Given the description of an element on the screen output the (x, y) to click on. 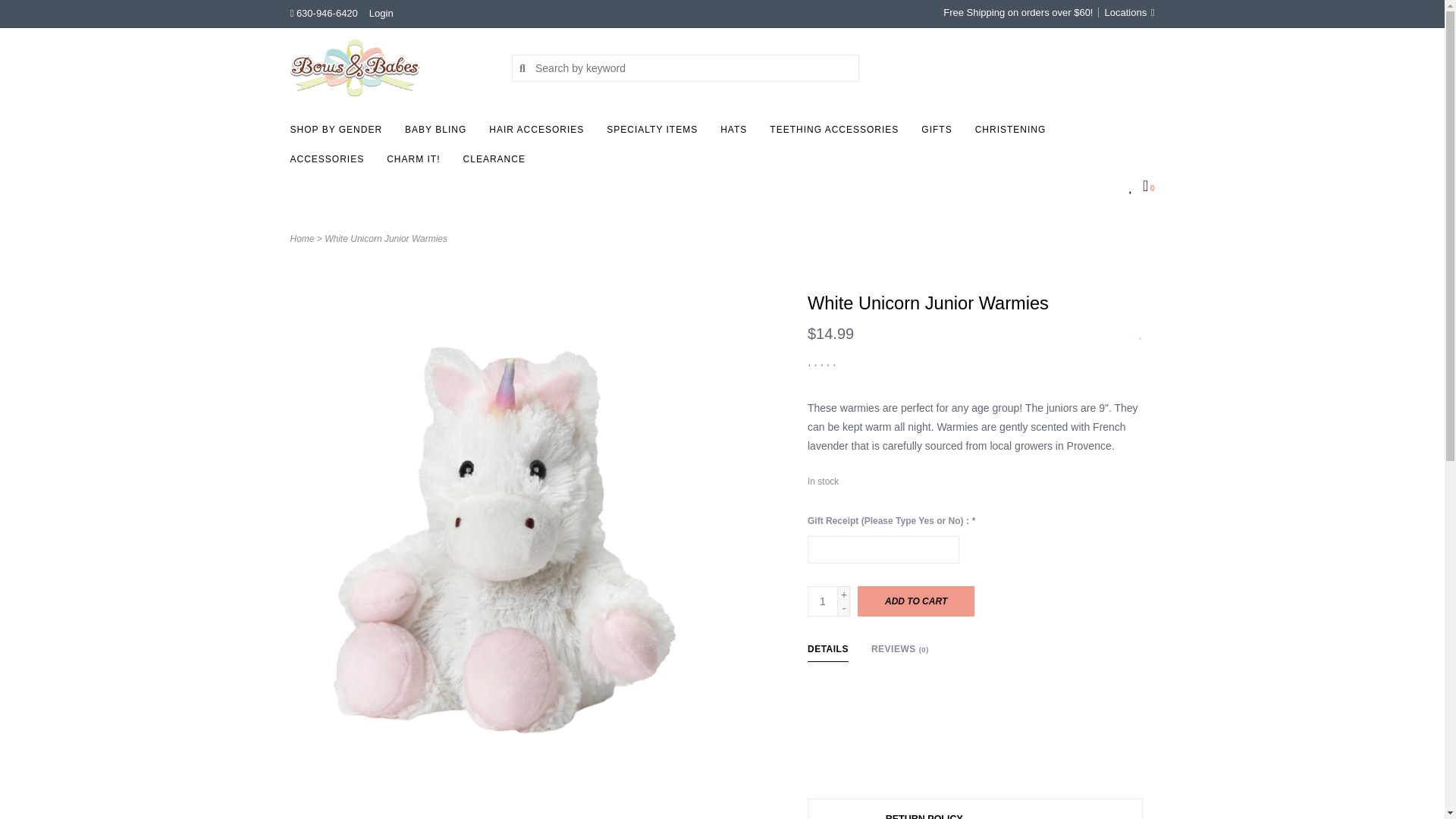
BABY BLING (439, 133)
Shop by Gender (339, 133)
My account (381, 12)
SHOP BY GENDER (339, 133)
630-946-6420 (322, 12)
Locations (1125, 12)
1 (823, 601)
Login (381, 12)
